Given the description of an element on the screen output the (x, y) to click on. 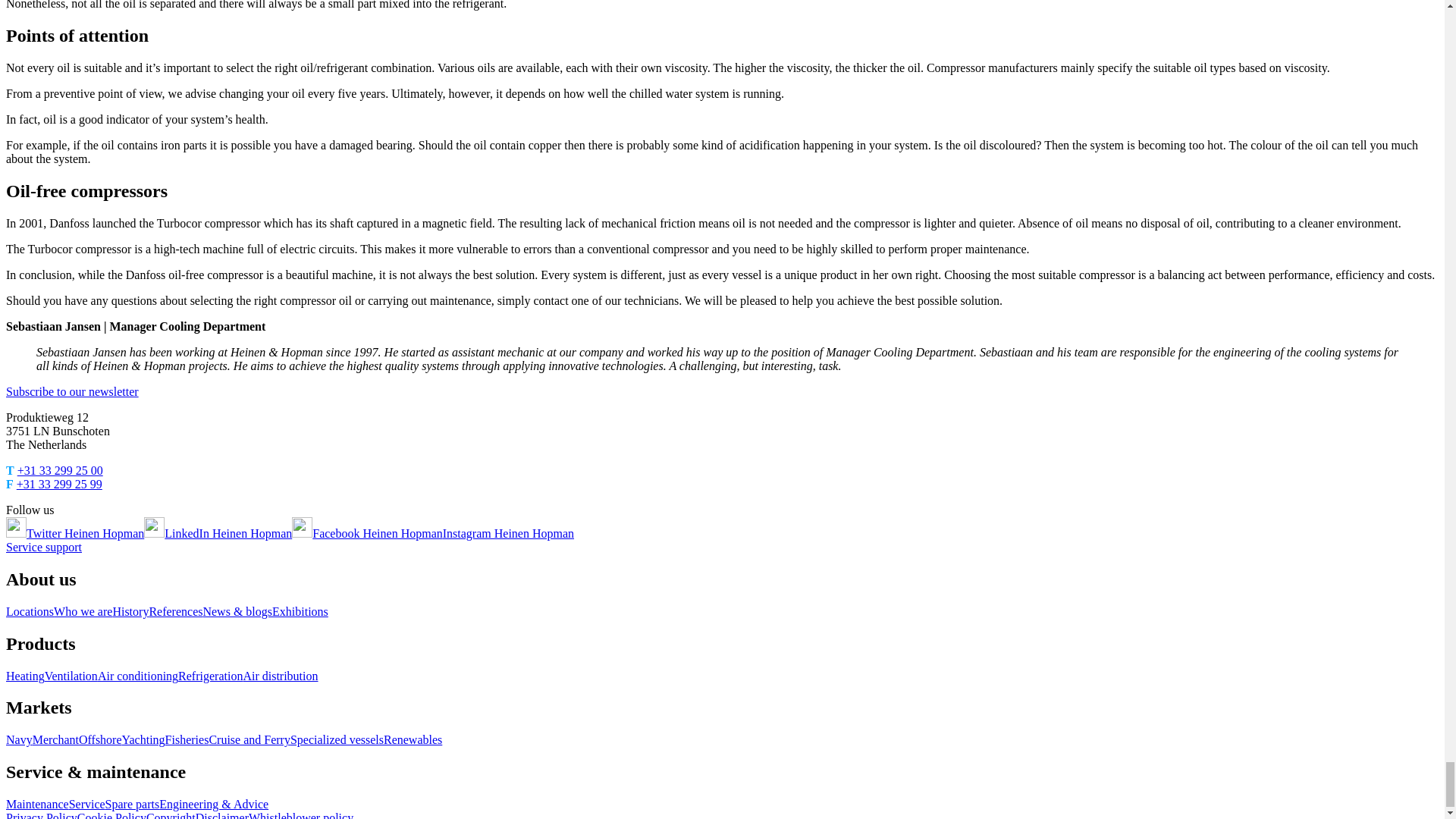
References (175, 611)
Instagram Heinen Hopman (507, 533)
Subscribe to our newsletter (71, 391)
Exhibitions (300, 611)
Ventilation (71, 675)
Air conditioning (137, 675)
Facebook Heinen Hopman (367, 533)
Locations (29, 611)
Service support (43, 546)
LinkedIn Heinen Hopman (218, 533)
